Given the description of an element on the screen output the (x, y) to click on. 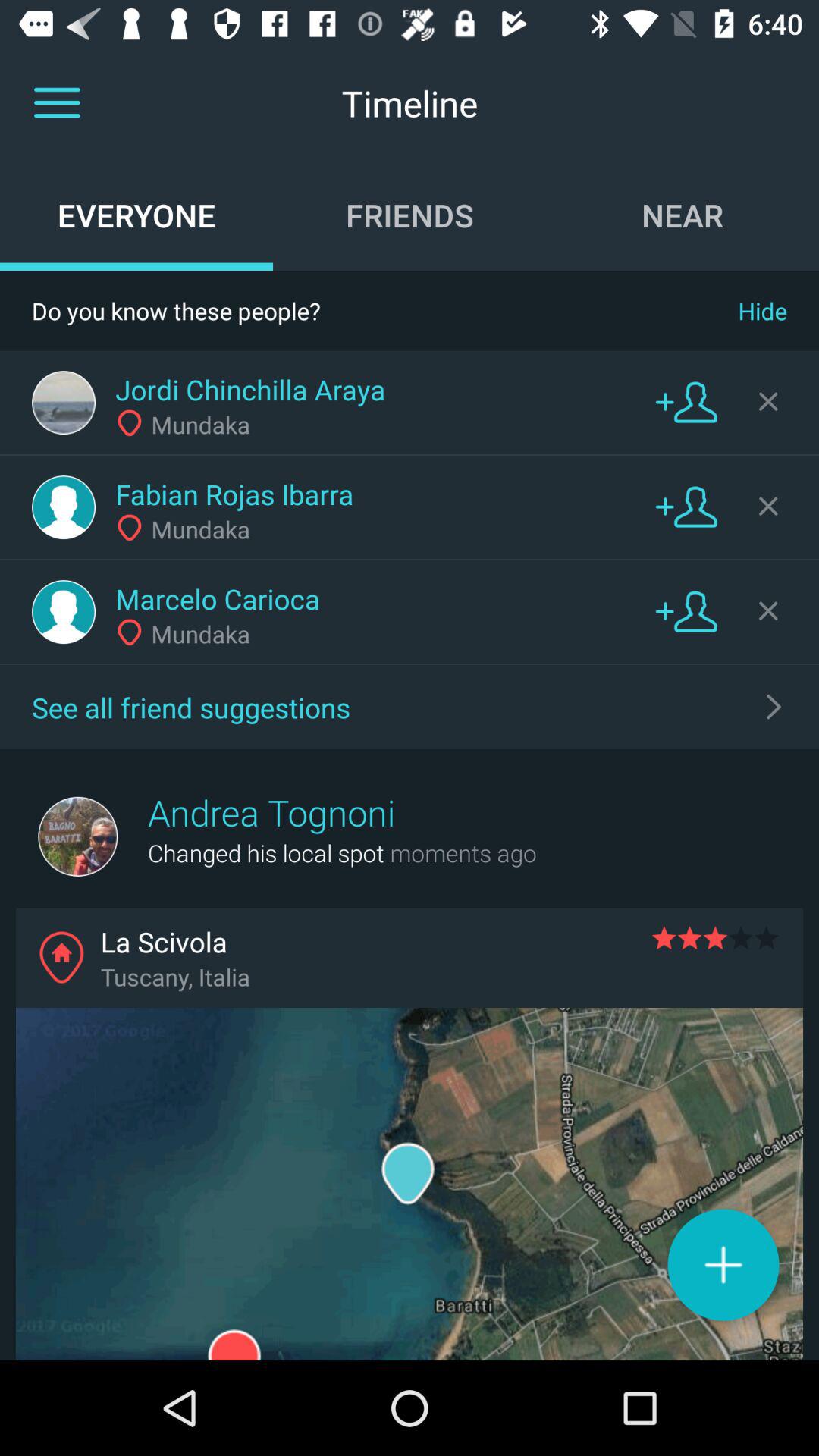
view image (63, 507)
